Given the description of an element on the screen output the (x, y) to click on. 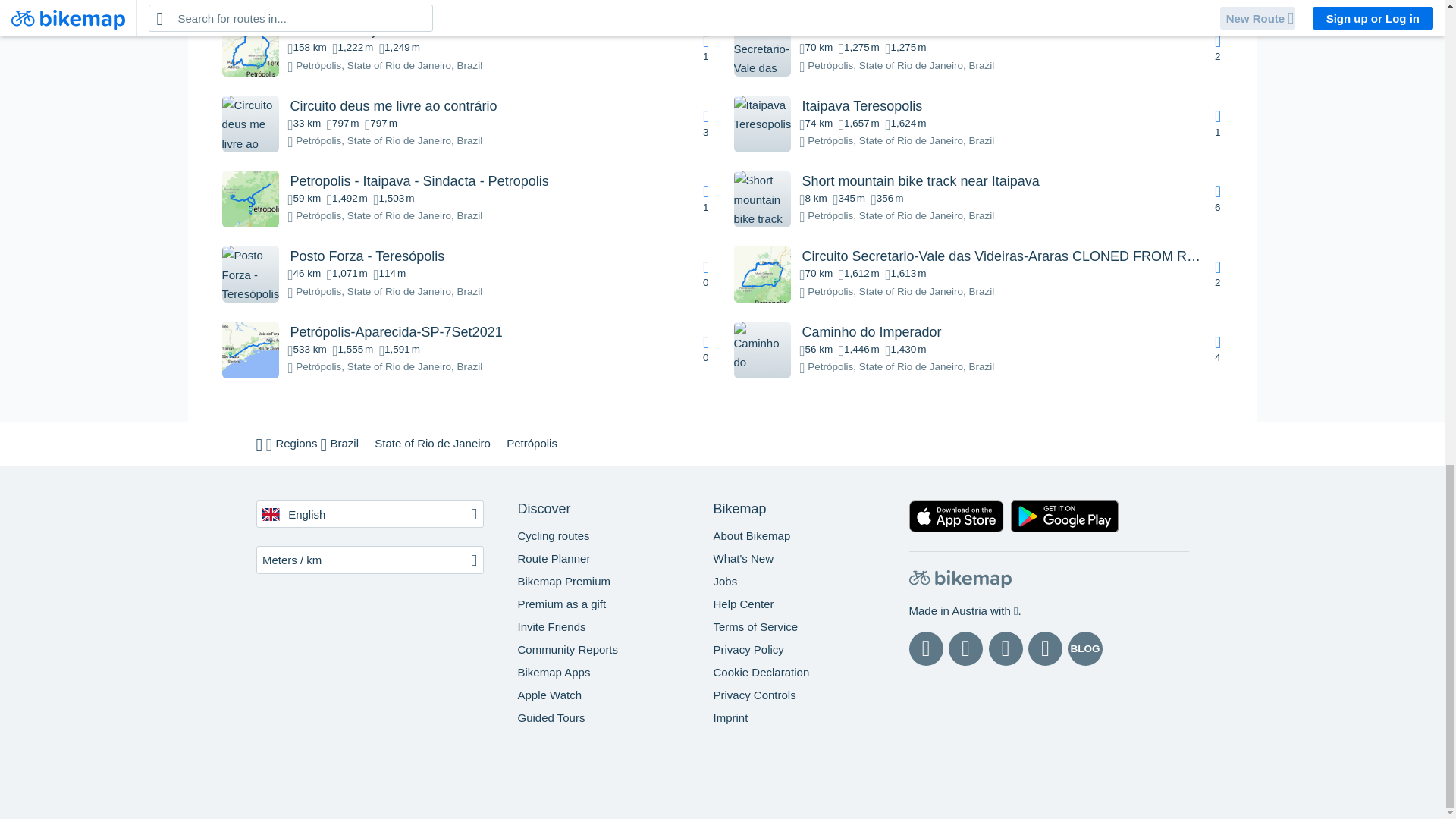
Bikemap on Twitter (1005, 648)
Download on the App Store (955, 519)
Bikemap on Instagram (965, 648)
Bikemap on Facebook (925, 648)
Home (959, 582)
Get it on Google Play (1064, 519)
Bikemap on YouTube (1044, 648)
